Given the description of an element on the screen output the (x, y) to click on. 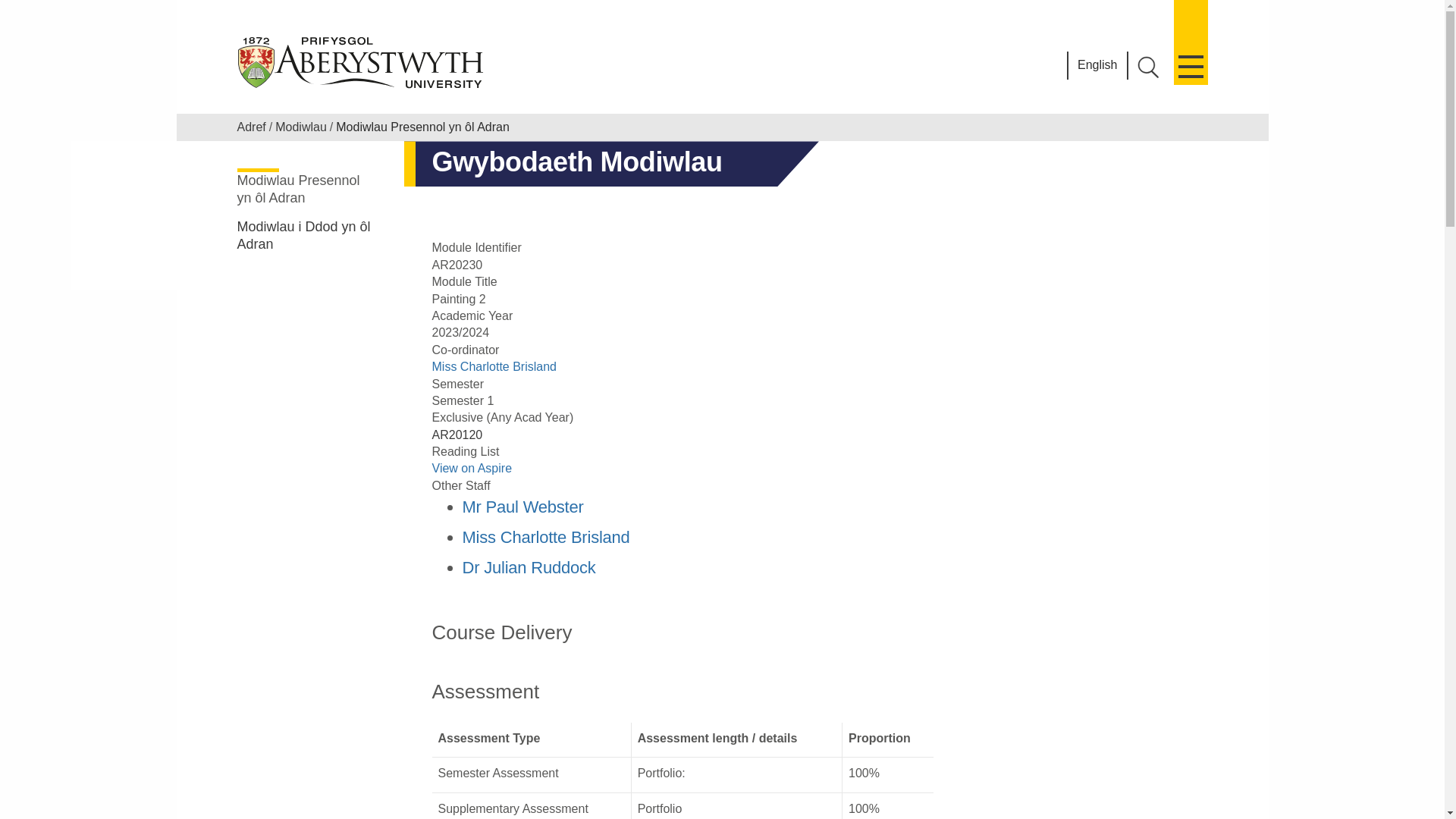
Chwillio (1147, 66)
Blaenddalen Prifysgol Aberystwyth (360, 62)
Change language to English (1096, 65)
